Given the description of an element on the screen output the (x, y) to click on. 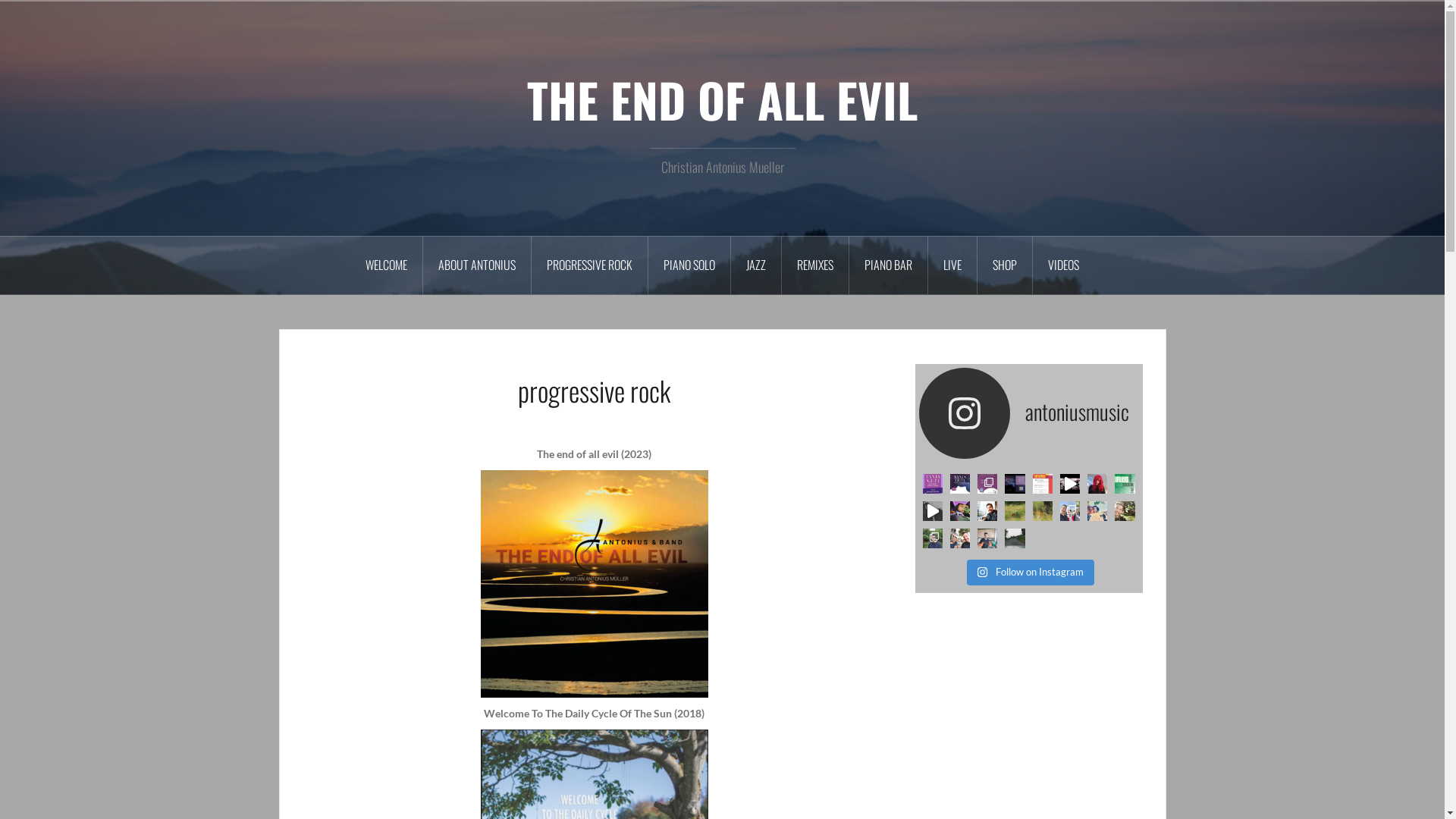
LIVE Element type: text (952, 265)
WELCOME Element type: text (386, 265)
antoniusmusic Element type: text (1029, 412)
REMIXES Element type: text (815, 265)
VIDEOS Element type: text (1063, 265)
Follow on Instagram Element type: text (1029, 572)
THE END OF ALL EVIL Element type: text (722, 99)
JAZZ Element type: text (756, 265)
PIANO SOLO Element type: text (689, 265)
SHOP Element type: text (1004, 265)
PROGRESSIVE ROCK Element type: text (589, 265)
ABOUT ANTONIUS Element type: text (477, 265)
PIANO BAR Element type: text (888, 265)
